Given the description of an element on the screen output the (x, y) to click on. 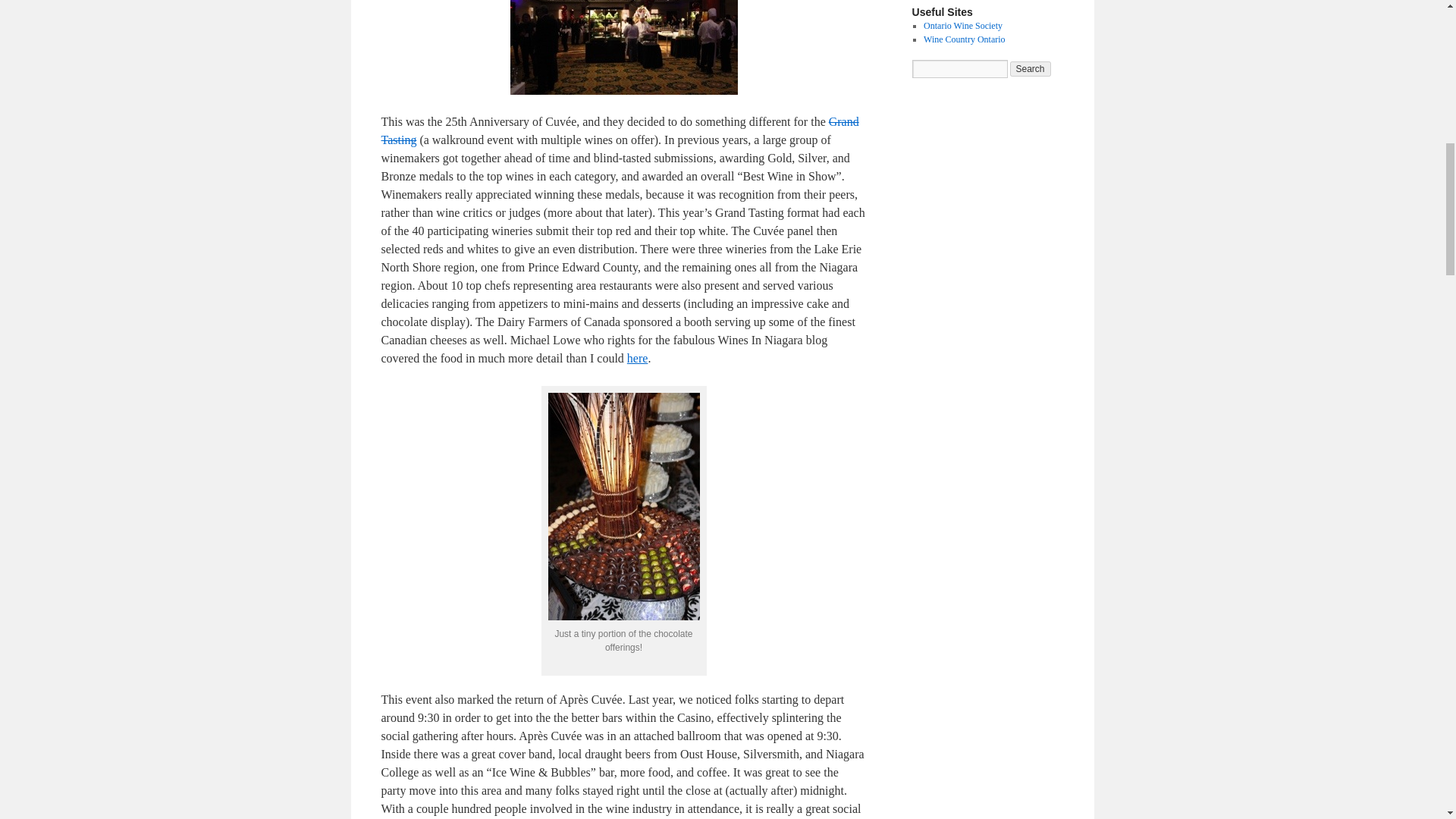
Chefs of Cuvee 2013 (637, 358)
Gala Event (619, 130)
Search (1030, 68)
Grand Tasting (619, 130)
here (637, 358)
